Given the description of an element on the screen output the (x, y) to click on. 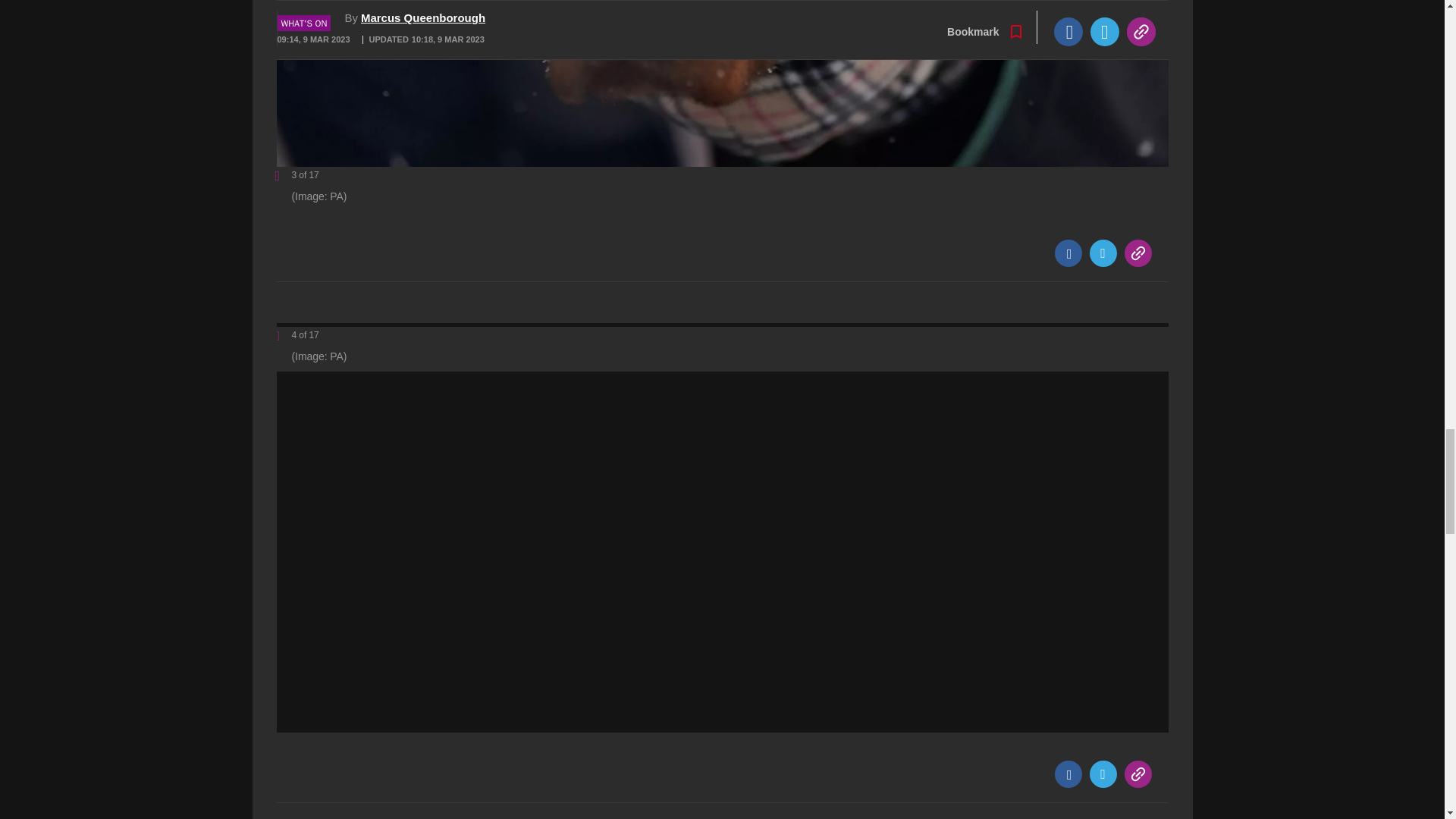
Twitter (1102, 773)
Facebook (1067, 773)
Twitter (1102, 252)
Facebook (1067, 252)
